Given the description of an element on the screen output the (x, y) to click on. 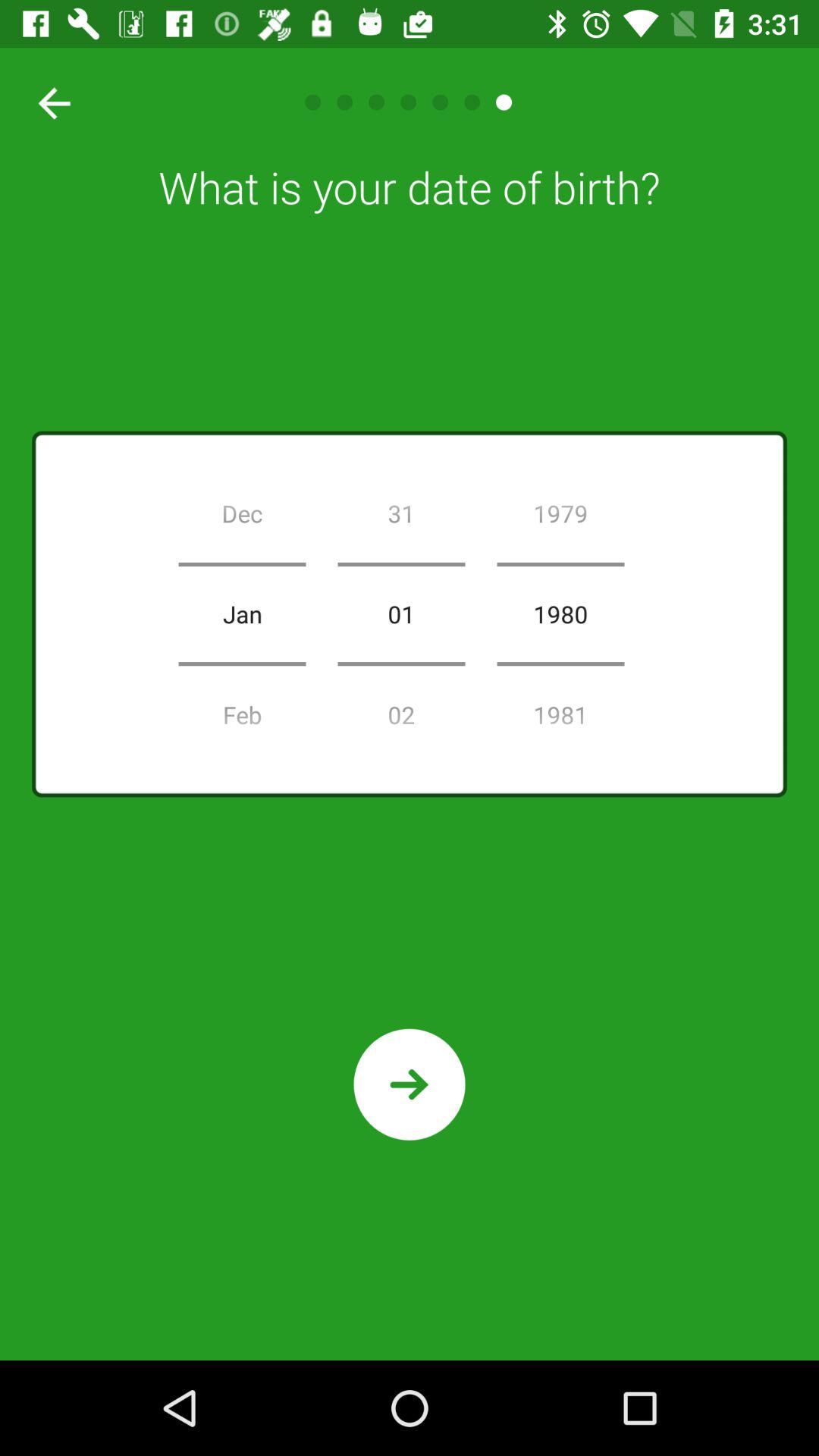
next (409, 1084)
